Given the description of an element on the screen output the (x, y) to click on. 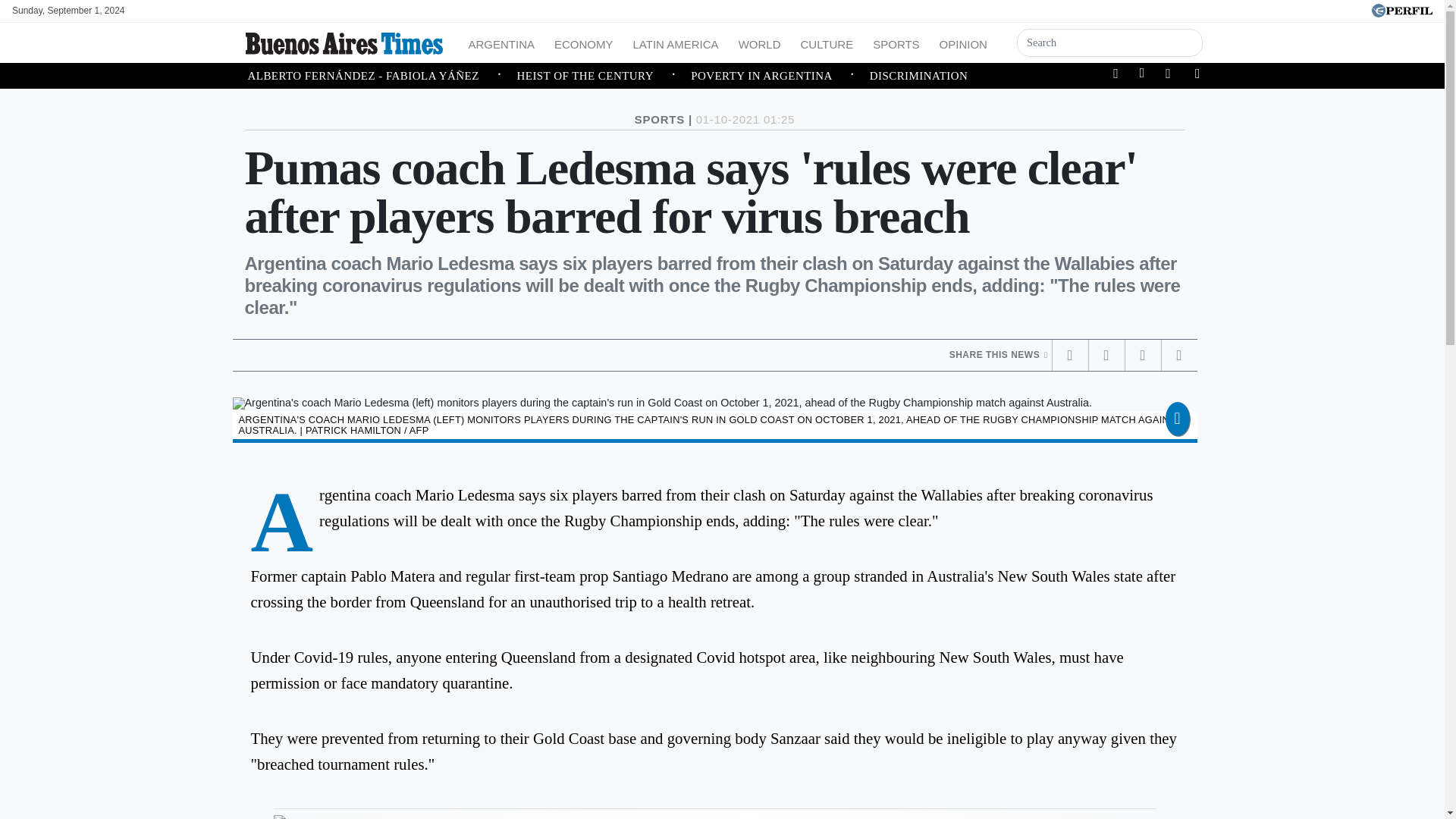
WORLD (759, 42)
LATIN AMERICA (676, 42)
OPINION (962, 42)
ARGENTINA (502, 42)
ECONOMY (584, 42)
SPORTS (895, 42)
Economy (584, 42)
DISCRIMINATION (918, 75)
Sports (895, 42)
